Given the description of an element on the screen output the (x, y) to click on. 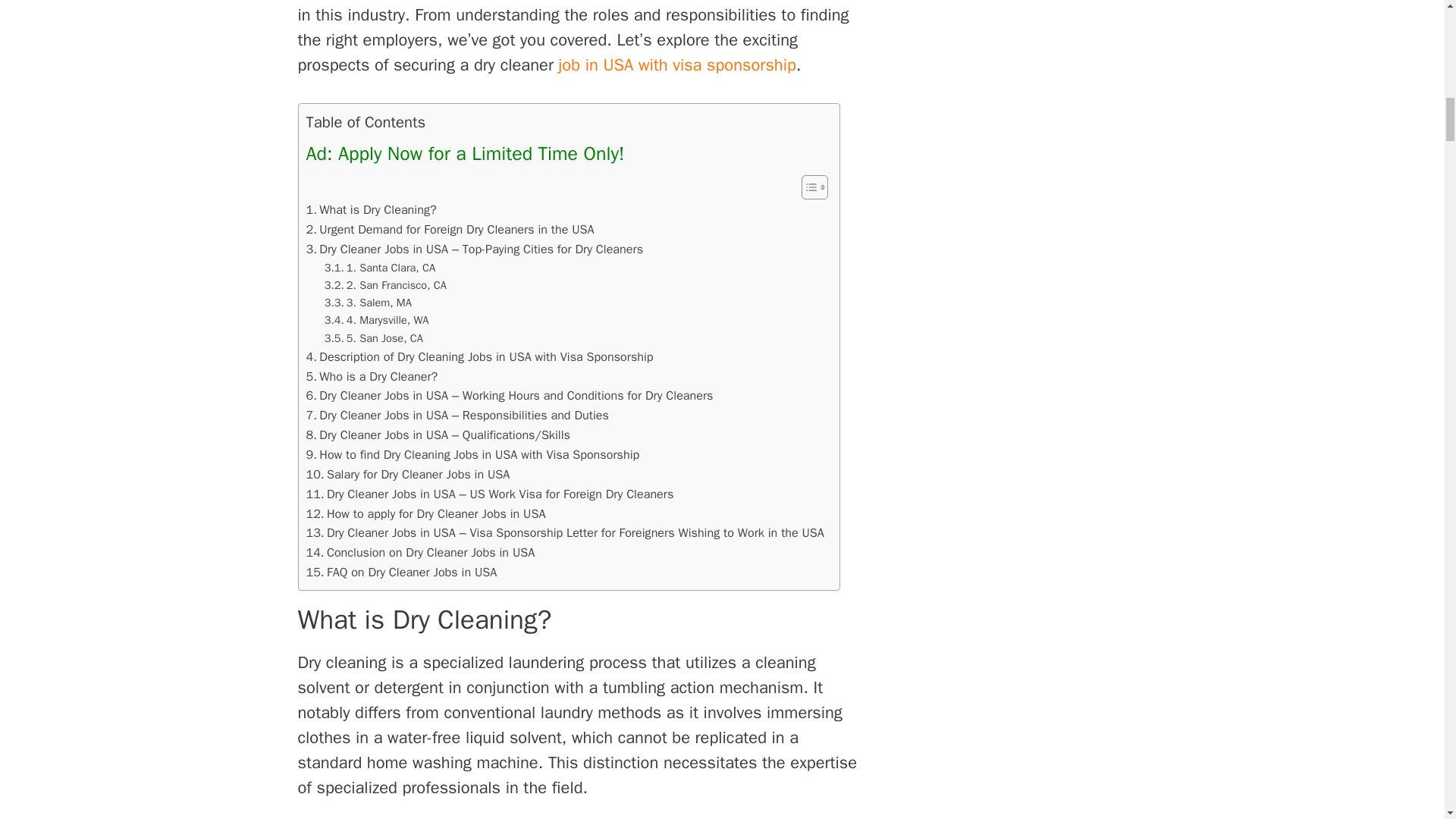
Urgent Demand for Foreign Dry Cleaners in the USA (449, 229)
1. Santa Clara, CA (379, 267)
What is Dry Cleaning? (370, 209)
What is Dry Cleaning? (370, 209)
3. Salem, MA (368, 303)
Ad: Apply Now for a Limited Time Only! (464, 153)
4. Marysville, WA (376, 320)
job in USA with visa sponsorship (677, 65)
2. San Francisco, CA (385, 285)
Urgent Demand for Foreign Dry Cleaners in the USA (449, 229)
